Given the description of an element on the screen output the (x, y) to click on. 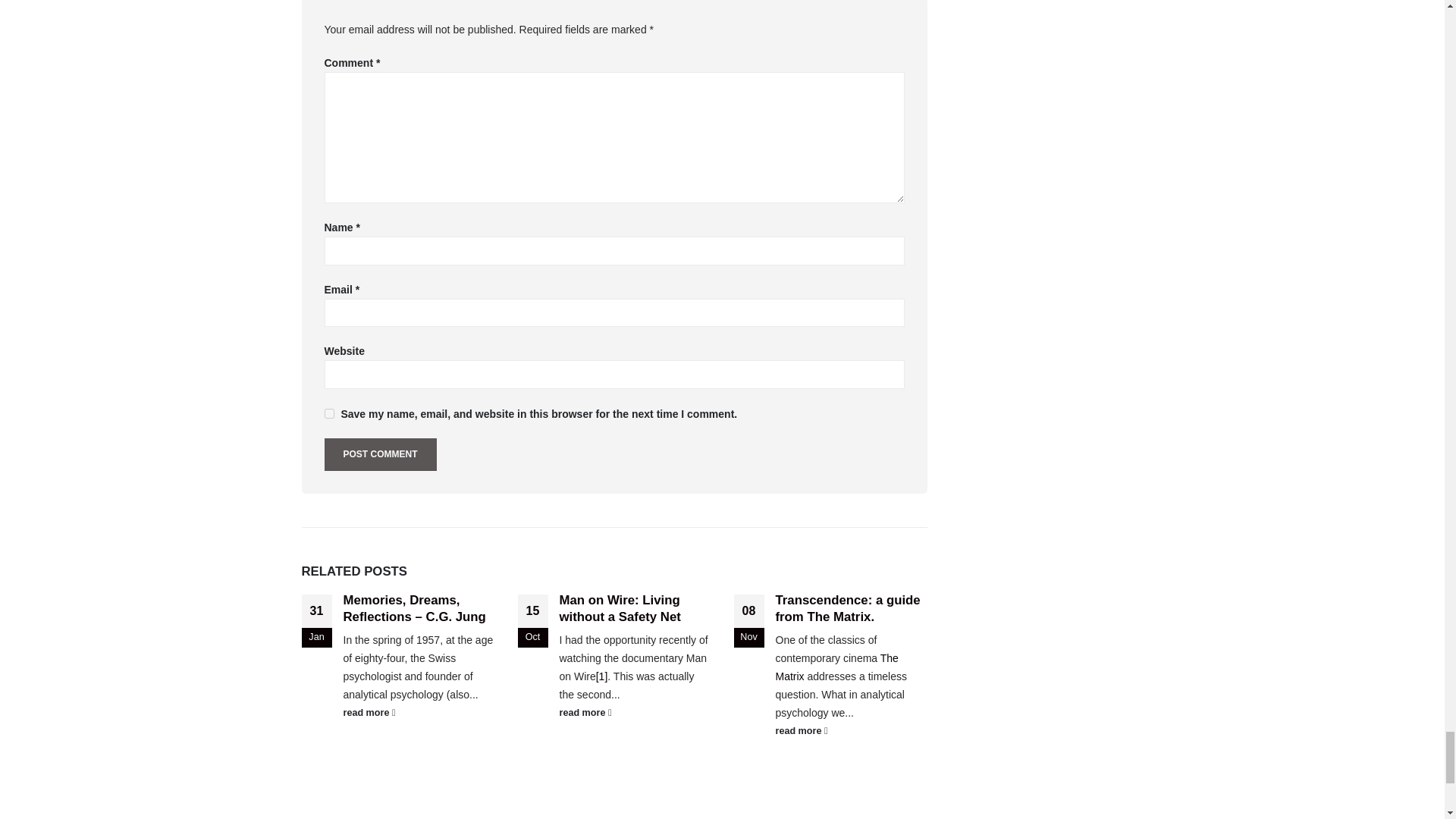
yes (329, 413)
Post Comment (380, 454)
